Given the description of an element on the screen output the (x, y) to click on. 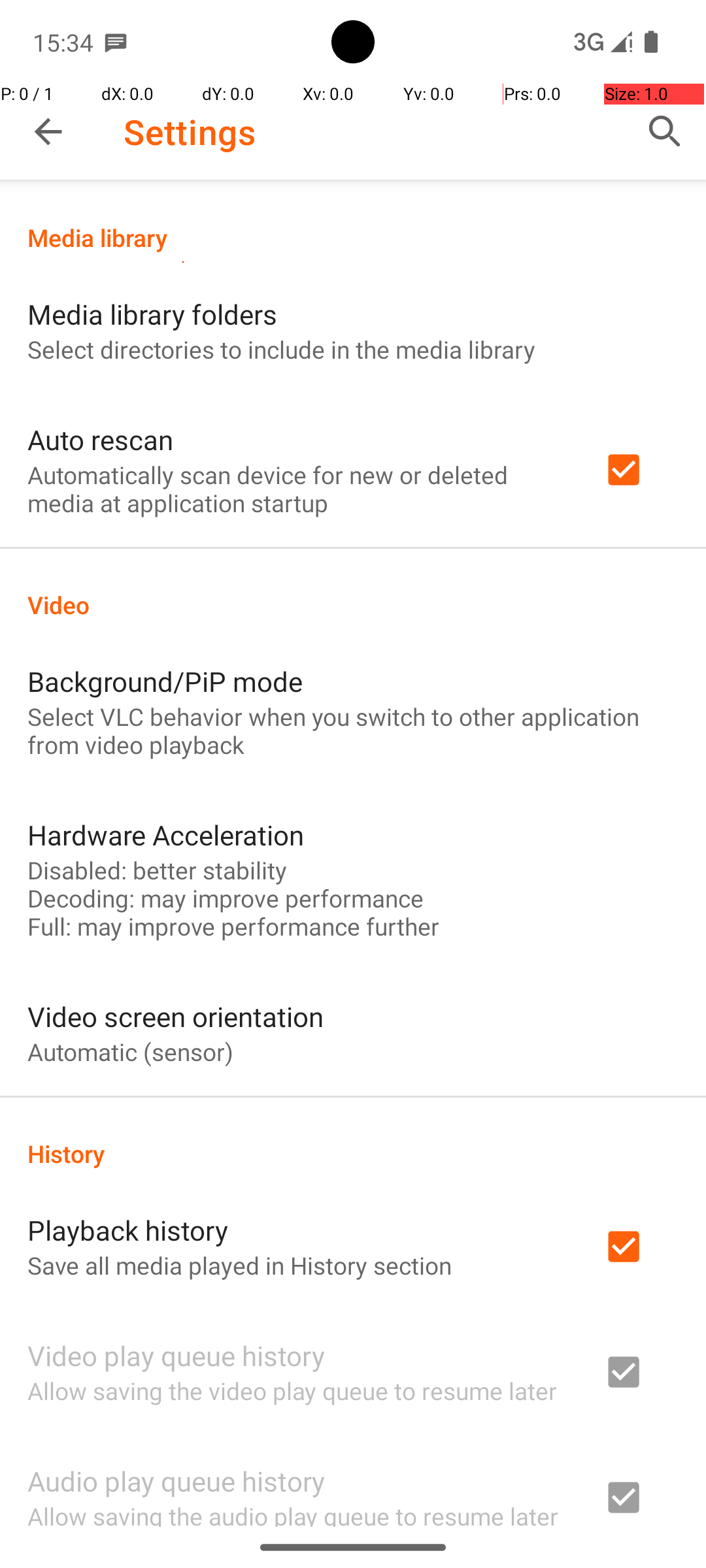
Media library Element type: android.widget.TextView (352, 237)
Media library folders Element type: android.widget.TextView (152, 313)
Select directories to include in the media library Element type: android.widget.TextView (281, 348)
Auto rescan Element type: android.widget.TextView (100, 438)
Automatically scan device for new or deleted media at application startup Element type: android.widget.TextView (297, 488)
Background/PiP mode Element type: android.widget.TextView (165, 680)
Select VLC behavior when you switch to other application from video playback Element type: android.widget.TextView (352, 730)
Hardware Acceleration Element type: android.widget.TextView (165, 834)
Disabled: better stability
Decoding: may improve performance
Full: may improve performance further Element type: android.widget.TextView (233, 897)
Video screen orientation Element type: android.widget.TextView (175, 1015)
Automatic (sensor) Element type: android.widget.TextView (130, 1051)
Playback history Element type: android.widget.TextView (127, 1229)
Save all media played in History section Element type: android.widget.TextView (239, 1264)
Video play queue history Element type: android.widget.TextView (175, 1354)
Allow saving the video play queue to resume later Element type: android.widget.TextView (291, 1390)
Audio play queue history Element type: android.widget.TextView (176, 1480)
Allow saving the audio play queue to resume later Element type: android.widget.TextView (292, 1512)
